Given the description of an element on the screen output the (x, y) to click on. 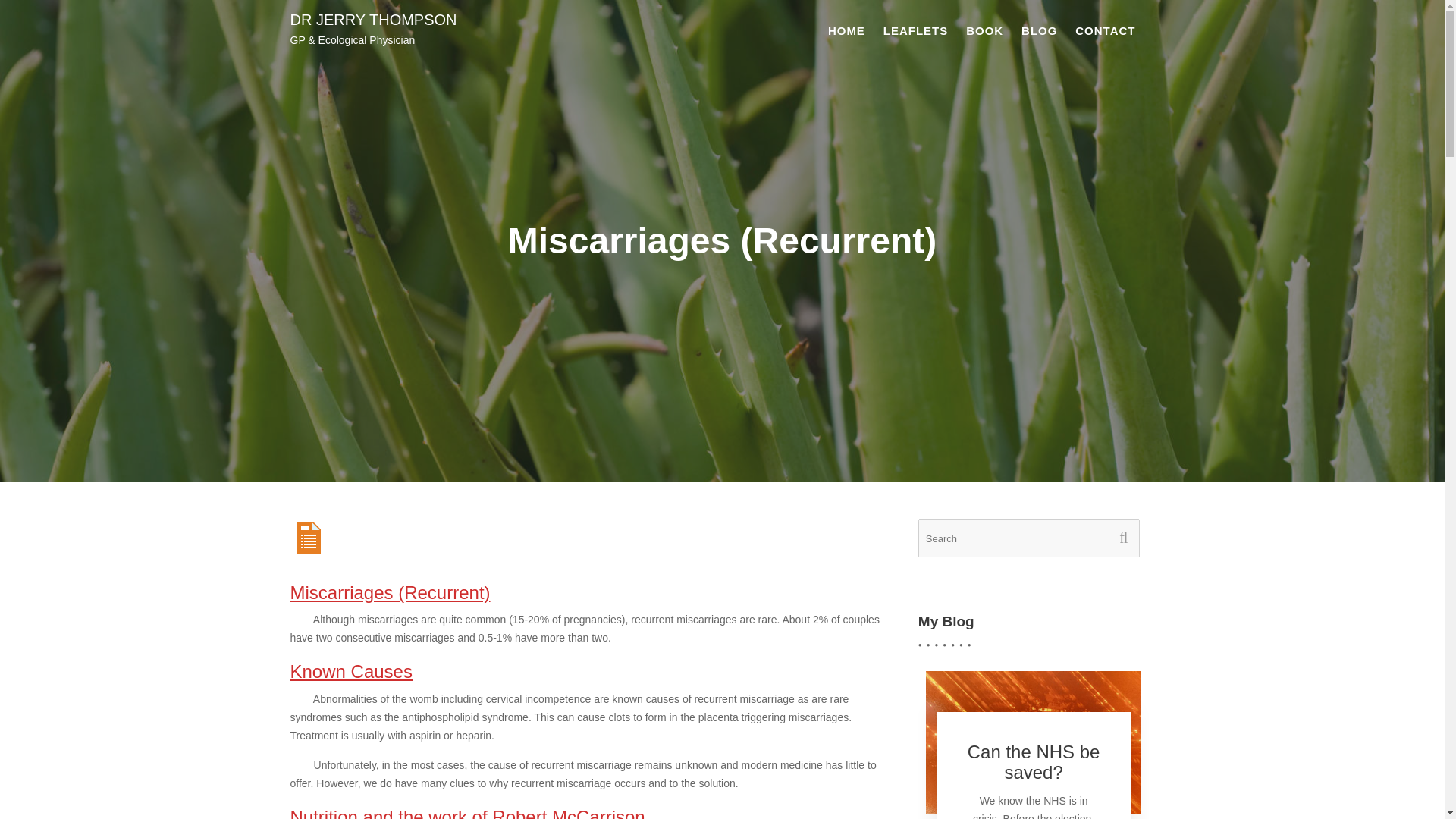
Can the NHS be saved? (1034, 762)
LEAFLETS (916, 30)
CONTACT (1104, 30)
Nutrition and the work of Robert McCarrison (467, 812)
DR JERRY THOMPSON (373, 19)
Dr Jerry Thompson (373, 19)
